Given the description of an element on the screen output the (x, y) to click on. 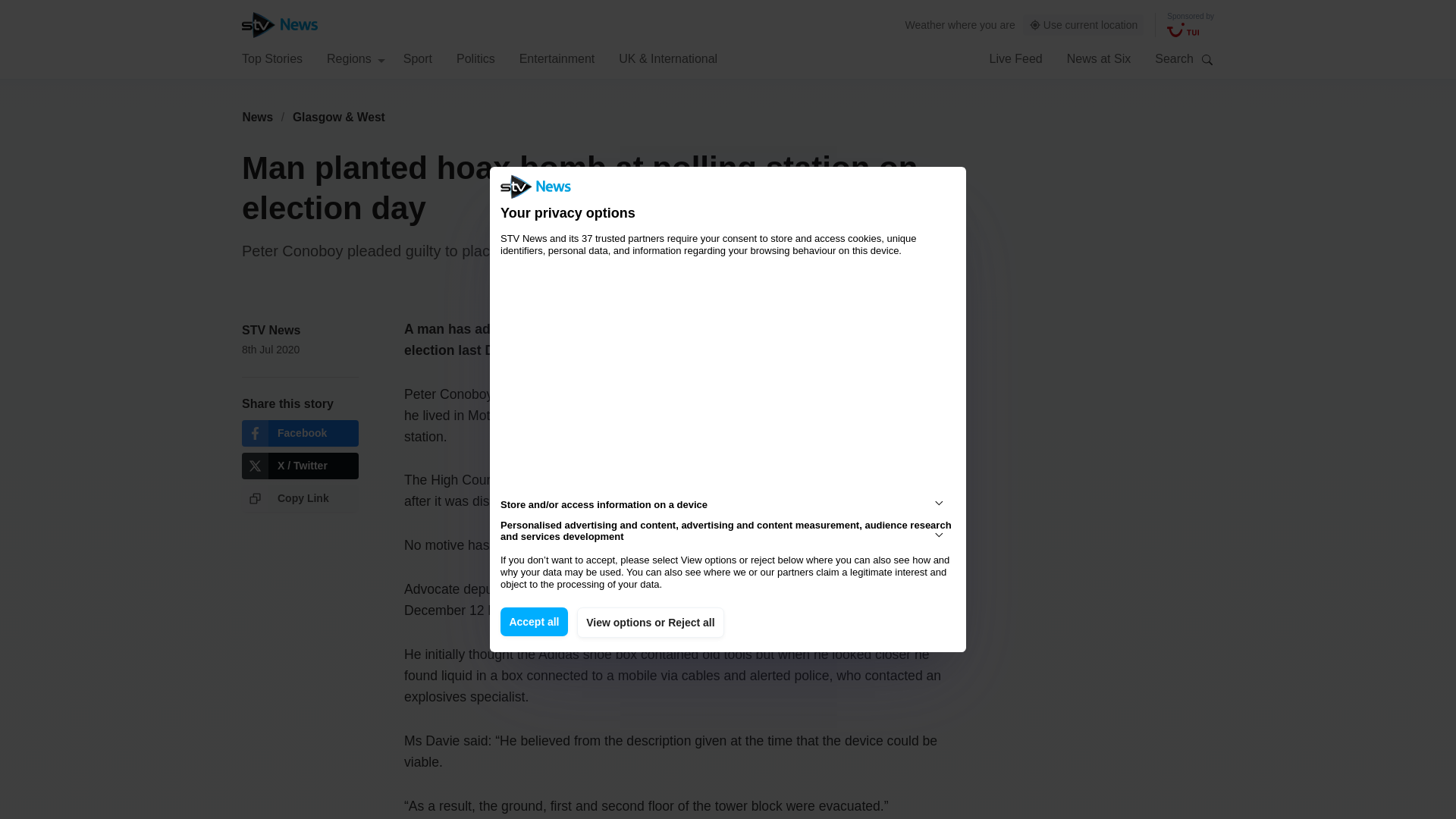
News at Six (1099, 57)
Politics (476, 57)
Facebook (299, 433)
News (257, 116)
Use current location (1083, 25)
Top Stories (271, 57)
Entertainment (557, 57)
Search (1206, 59)
Regions (355, 57)
